Given the description of an element on the screen output the (x, y) to click on. 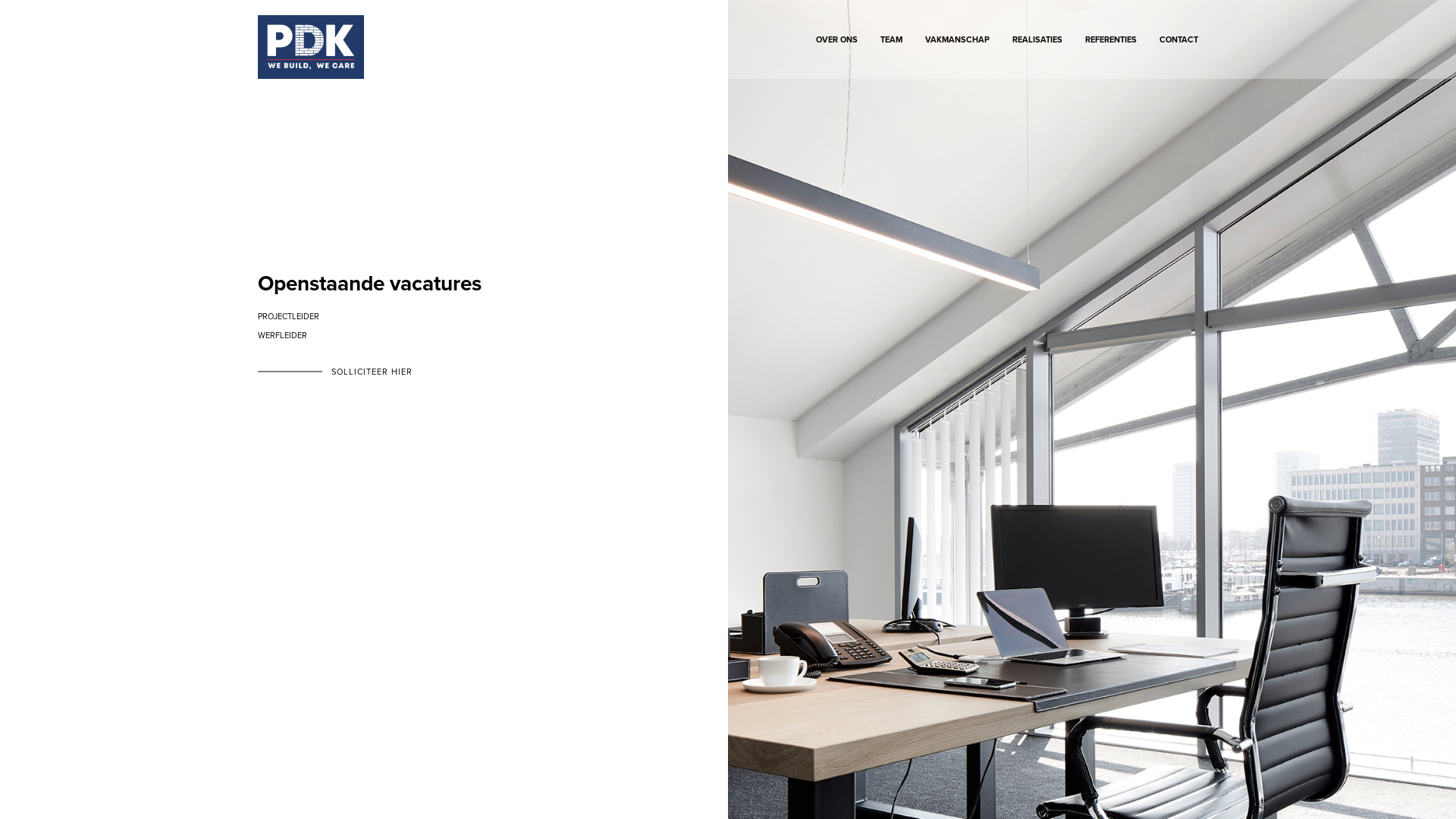
CONTACT Element type: text (1178, 45)
REALISATIES Element type: text (1037, 45)
VAKMANSCHAP Element type: text (957, 45)
TEAM Element type: text (891, 45)
OVER ONS Element type: text (836, 45)
WERFLEIDER Element type: text (282, 335)
PROJECTLEIDER Element type: text (288, 316)
REFERENTIES Element type: text (1110, 45)
SOLLICITEER HIER Element type: text (371, 371)
